Given the description of an element on the screen output the (x, y) to click on. 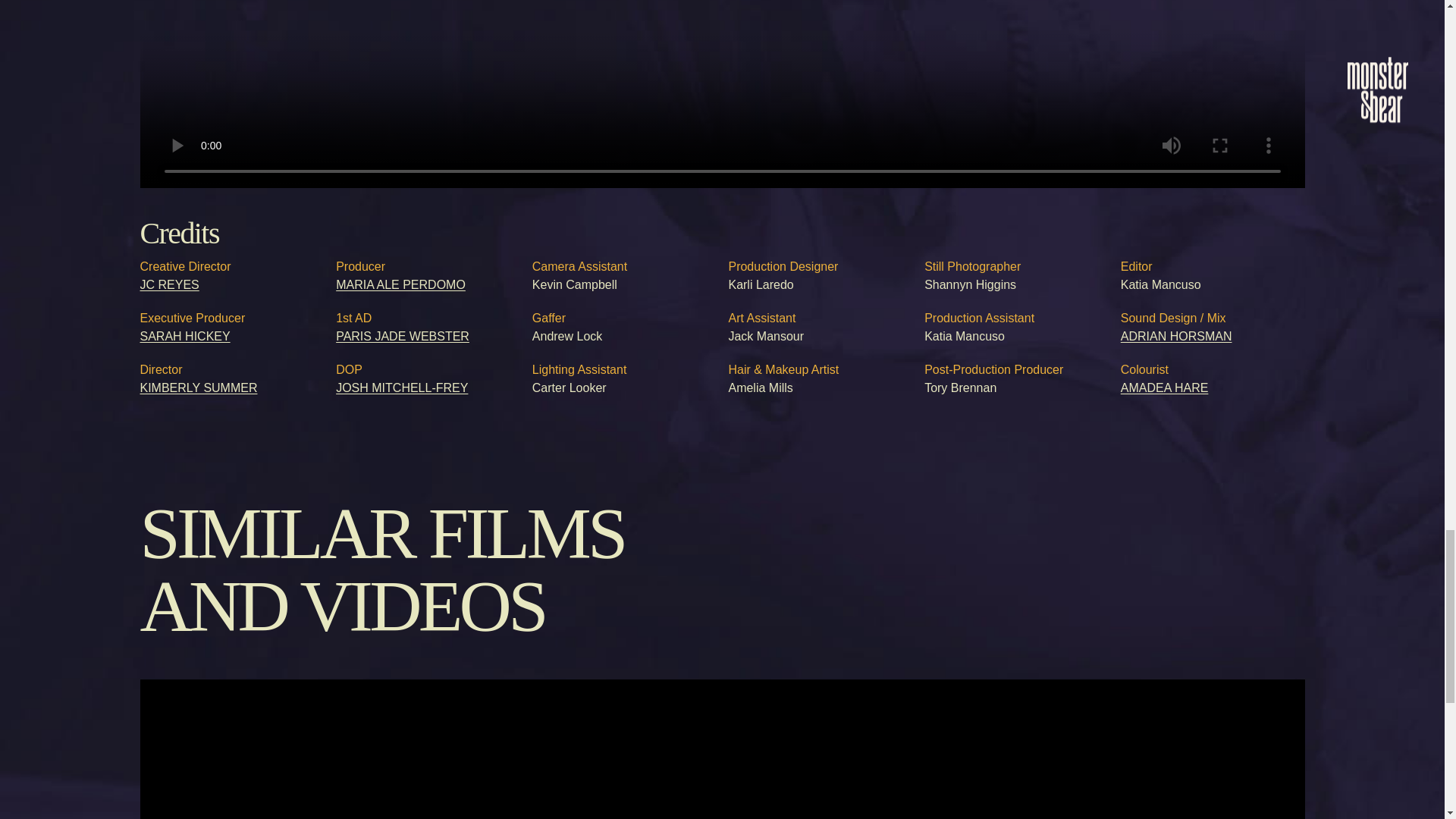
JOSH MITCHELL-FREY (401, 386)
KIMBERLY SUMMER (198, 386)
JC REYES (168, 283)
SARAH HICKEY (184, 335)
PARIS JADE WEBSTER (402, 335)
MARIA ALE PERDOMO (400, 283)
AMADEA HARE (1164, 386)
ADRIAN HORSMAN (1176, 335)
